Given the description of an element on the screen output the (x, y) to click on. 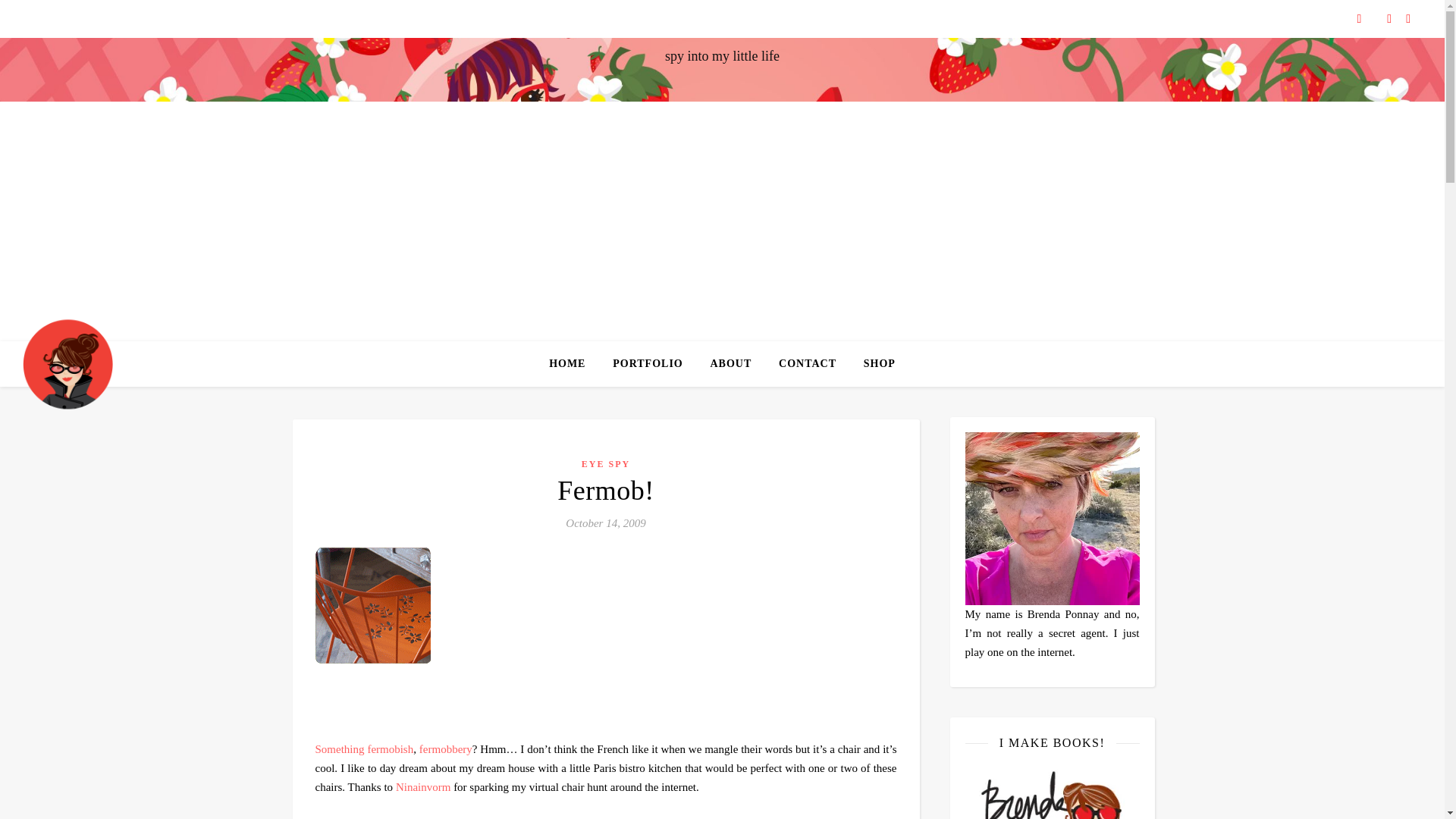
PORTFOLIO (647, 363)
Fermob! (605, 490)
Something (340, 748)
fermobish (389, 748)
HOME (572, 363)
EYE SPY (605, 463)
fermob by secret agent josephine, on Flickr (605, 613)
Secret Agent Josephine (68, 363)
CONTACT (807, 363)
Ninainvorm (423, 787)
